Given the description of an element on the screen output the (x, y) to click on. 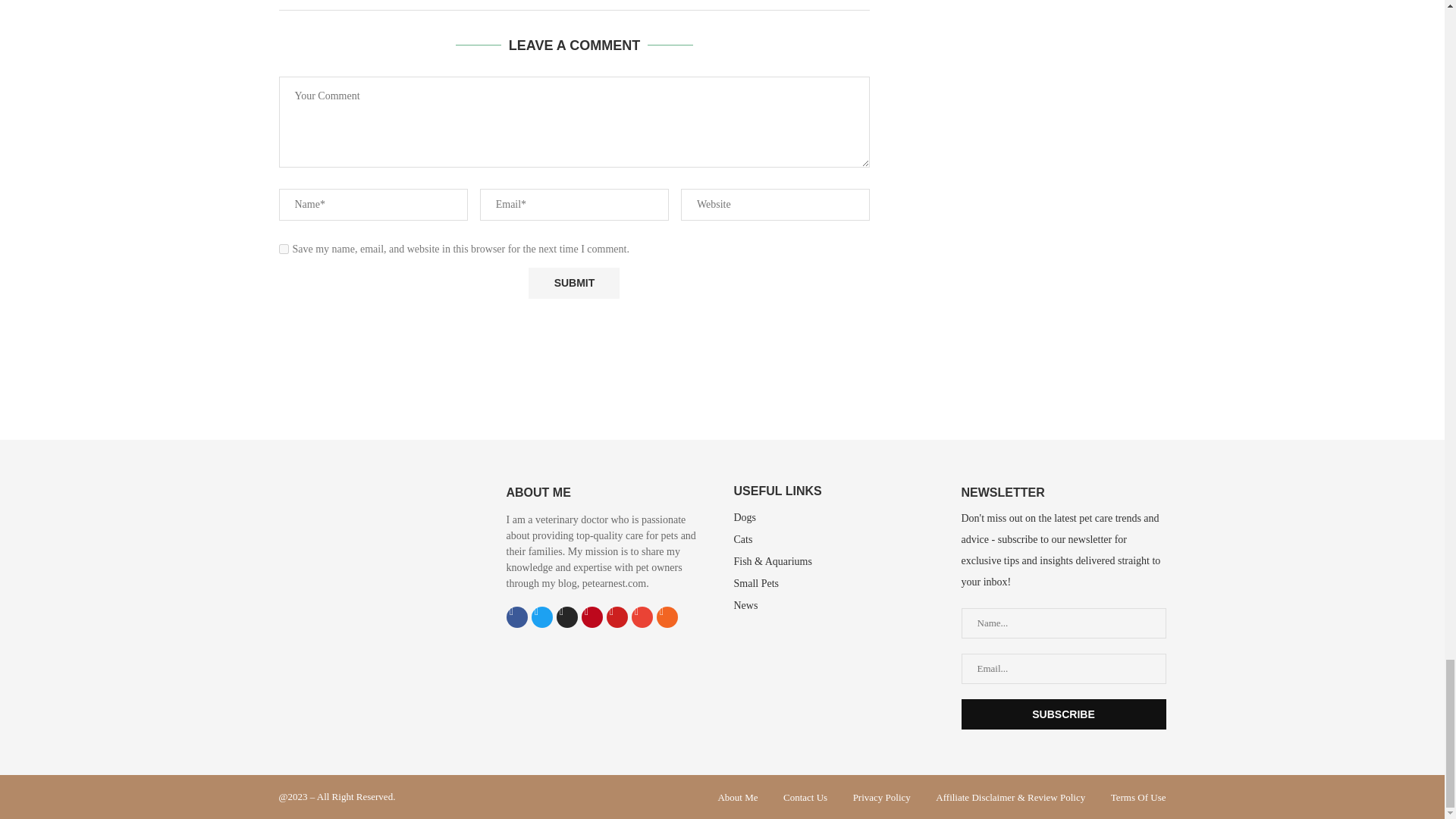
yes (283, 248)
Subscribe (1063, 714)
Submit (574, 282)
